Given the description of an element on the screen output the (x, y) to click on. 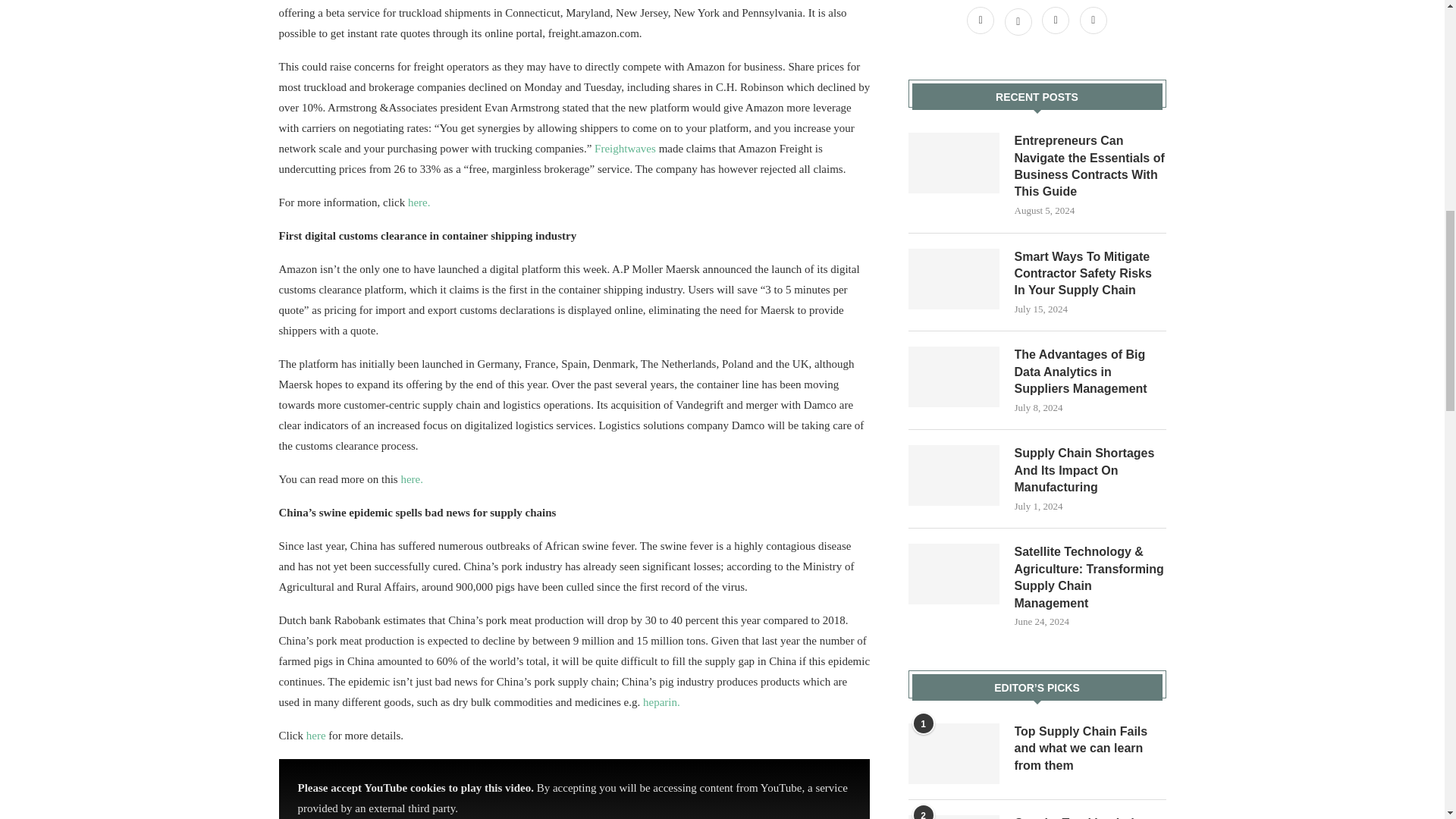
here (315, 735)
here. (418, 202)
Freightwaves (623, 148)
heparin. (661, 702)
here. (411, 479)
